Given the description of an element on the screen output the (x, y) to click on. 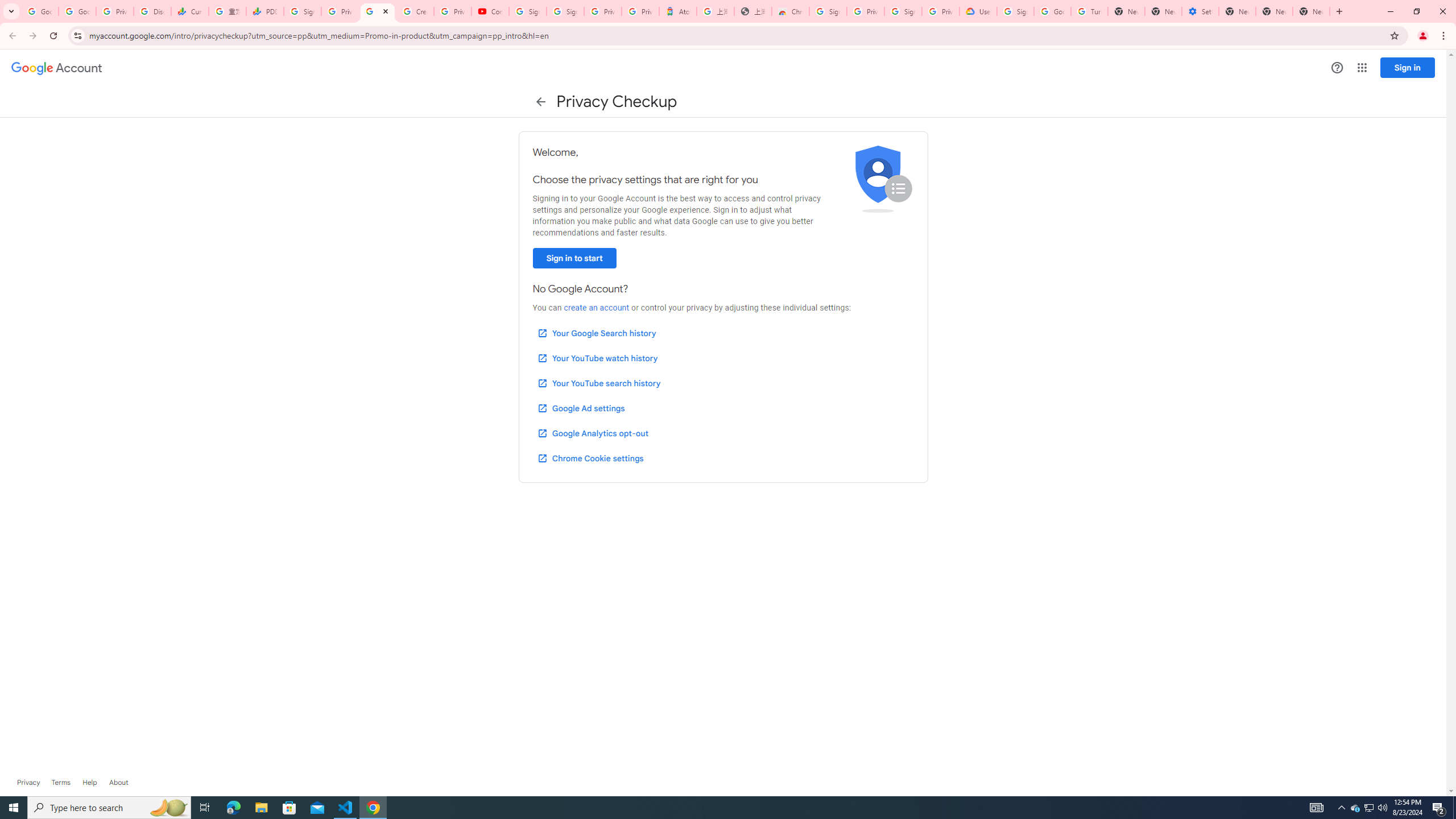
Settings - System (1200, 11)
Your Google Search history (596, 332)
Chrome Web Store - Color themes by Chrome (790, 11)
Sign in (1407, 67)
Chrome Cookie settings (589, 457)
Currencies - Google Finance (189, 11)
Google Account settings (56, 68)
